Given the description of an element on the screen output the (x, y) to click on. 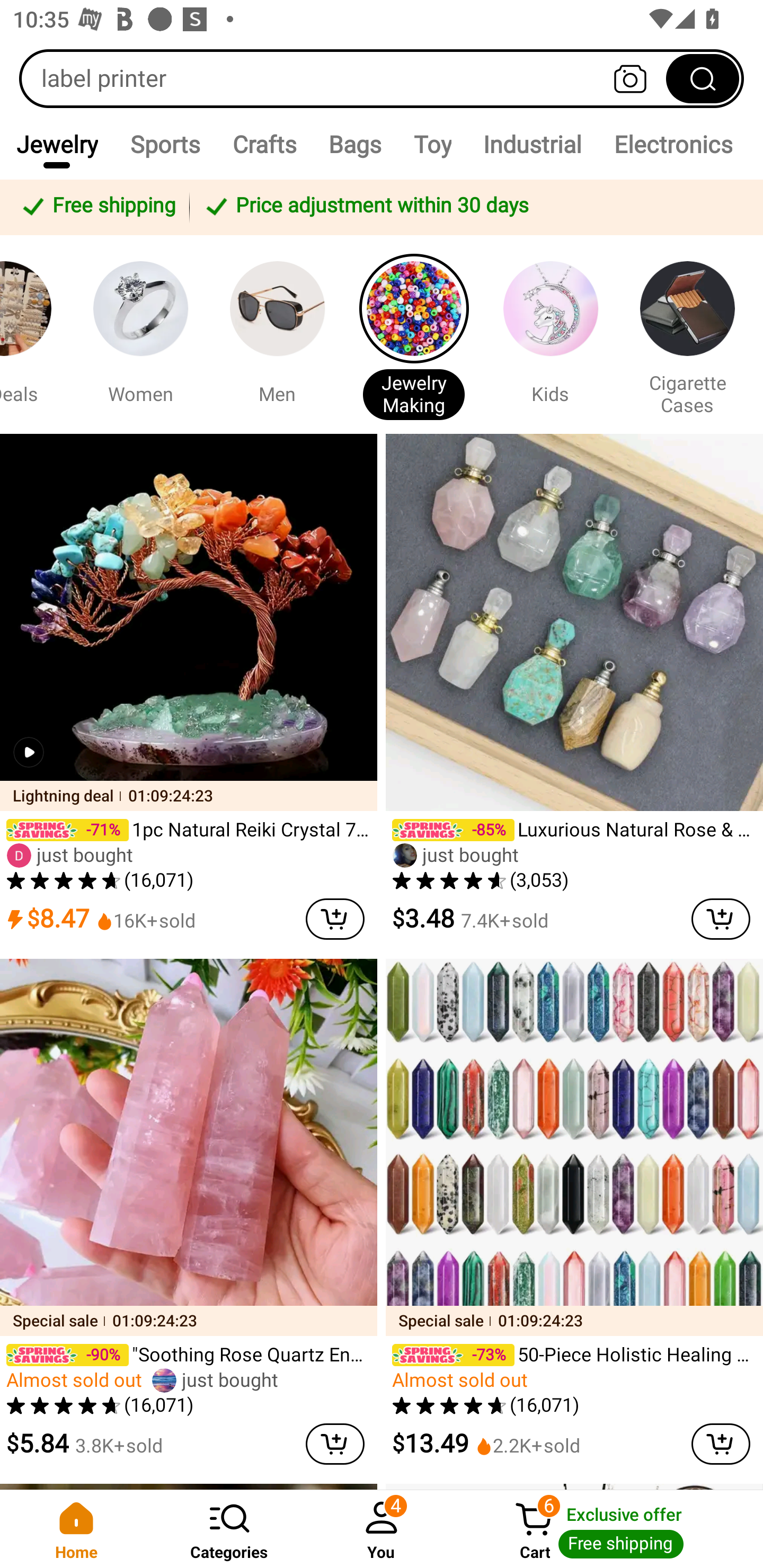
label printer (381, 78)
Jewelry (56, 144)
Sports (164, 144)
Crafts (263, 144)
Bags (354, 144)
Toy (431, 144)
Industrial (531, 144)
Electronics (672, 144)
Free shipping (97, 206)
Price adjustment within 30 days (472, 206)
Women (140, 333)
Men (276, 333)
Jewelry Making (413, 333)
Kids (550, 333)
Cigarette Cases (687, 333)
cart delete (334, 918)
cart delete (720, 918)
cart delete (334, 1443)
cart delete (720, 1443)
Home (76, 1528)
Categories (228, 1528)
You 4 You (381, 1528)
Cart 6 Cart Exclusive offer (610, 1528)
